Given the description of an element on the screen output the (x, y) to click on. 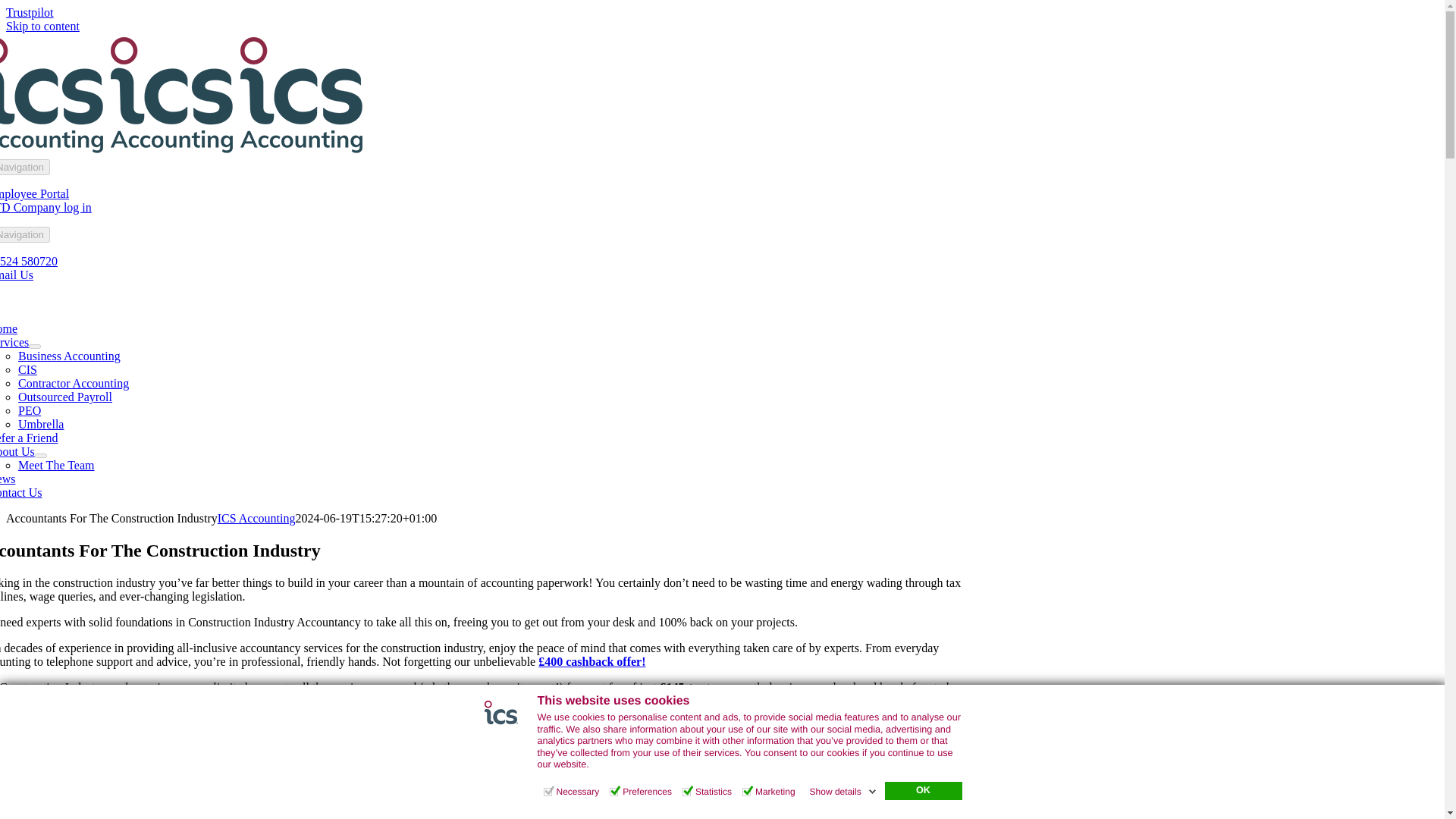
Show details (842, 791)
OK (921, 791)
